Given the description of an element on the screen output the (x, y) to click on. 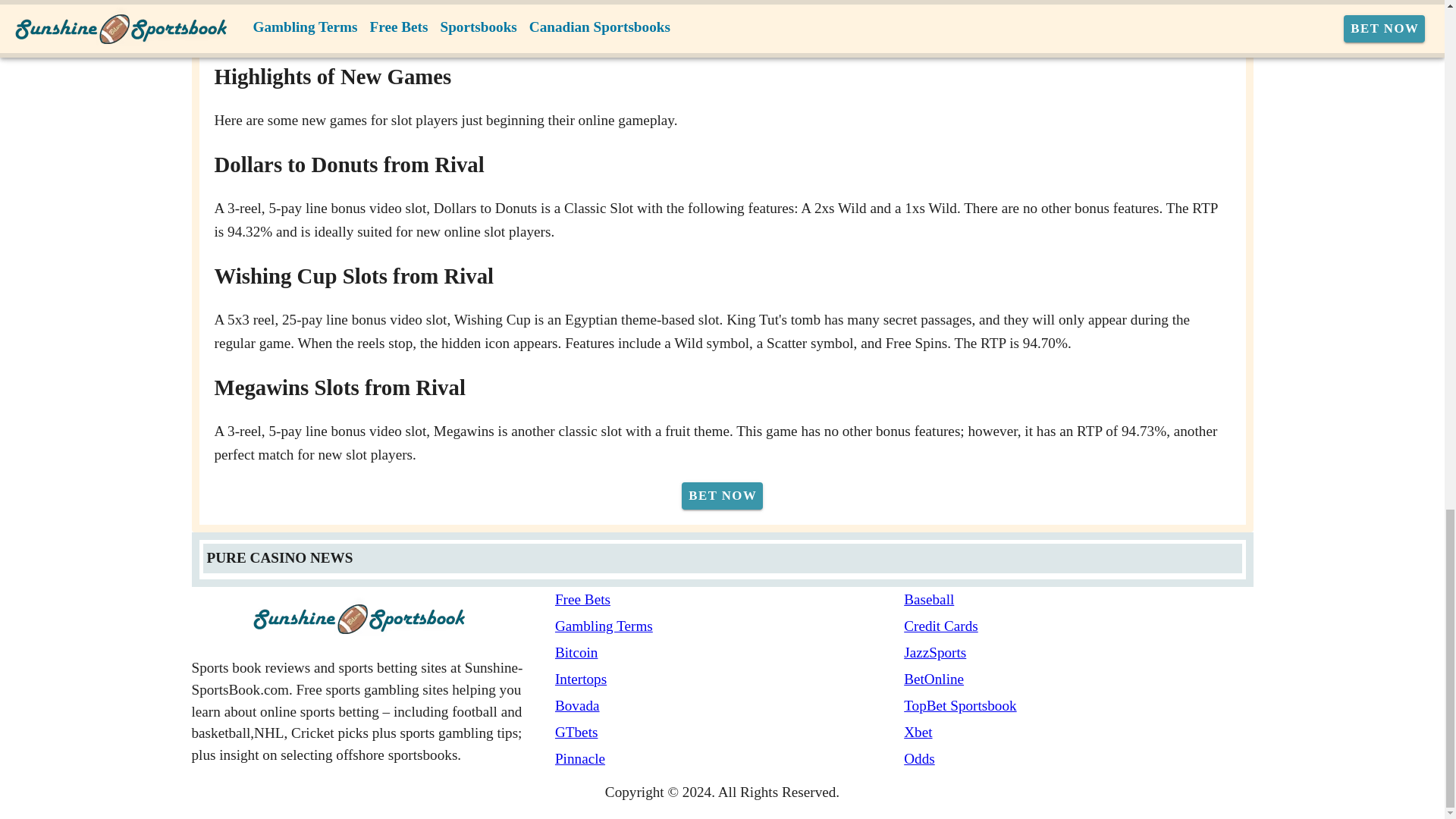
Bovada (729, 706)
BET NOW (721, 495)
TopBet Sportsbook (1078, 706)
BetOnline (1078, 680)
Credit Cards (1078, 626)
Bitcoin (729, 653)
Gambling Terms (729, 626)
Intertops (729, 680)
Baseball (1078, 599)
Pinnacle (729, 759)
